Given the description of an element on the screen output the (x, y) to click on. 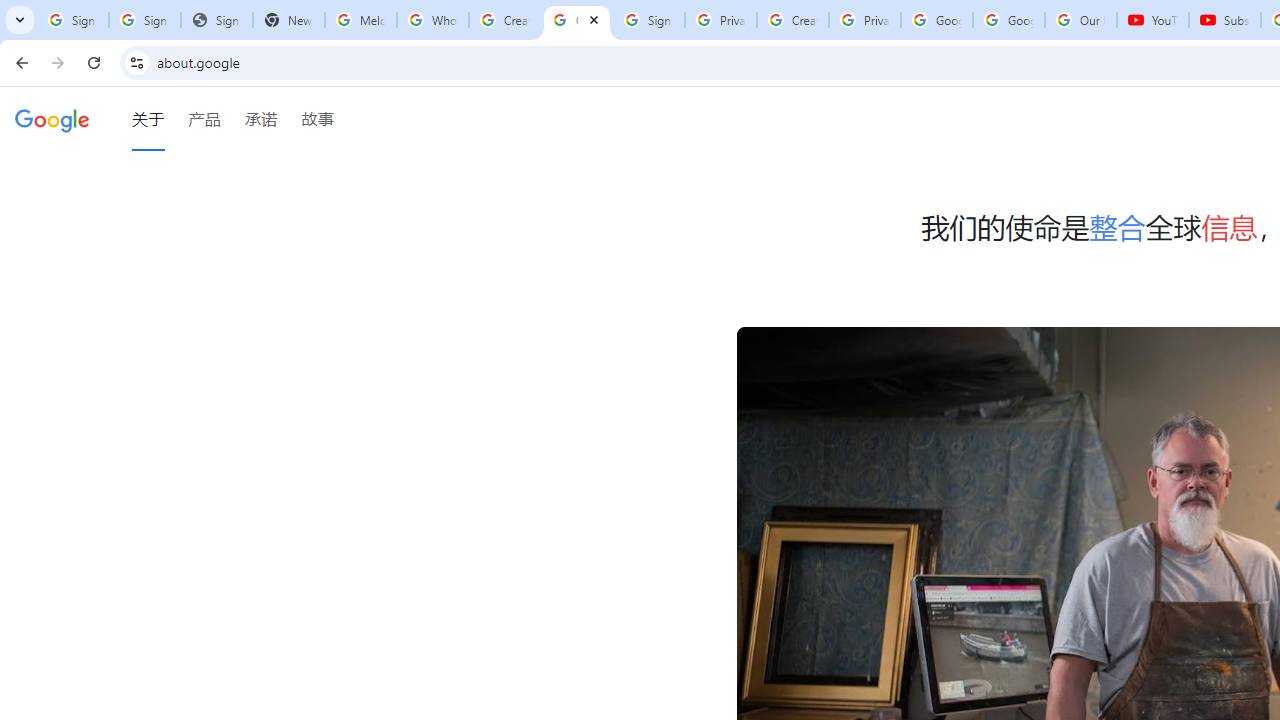
Create your Google Account (504, 20)
Create your Google Account (792, 20)
New Tab (289, 20)
Who is my administrator? - Google Account Help (432, 20)
